Given the description of an element on the screen output the (x, y) to click on. 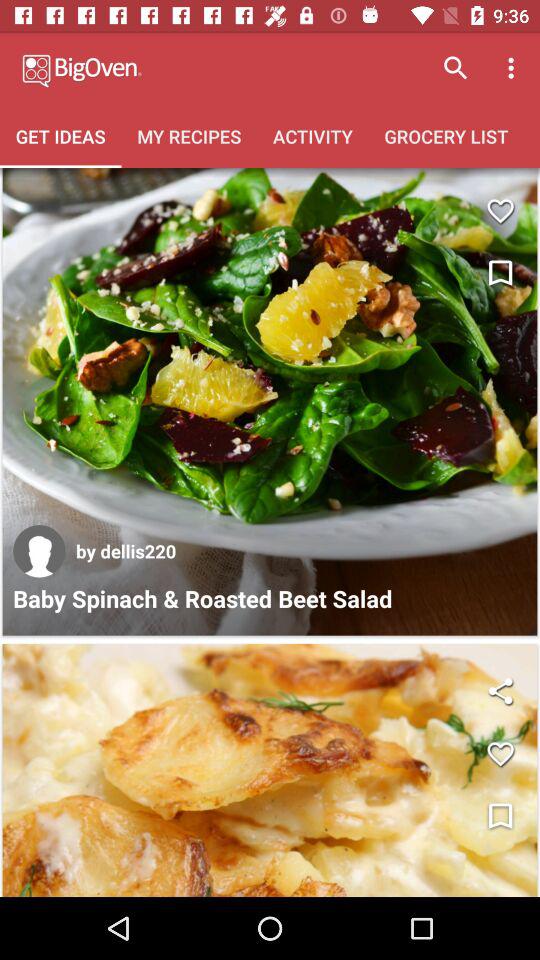
share the another (500, 690)
